Given the description of an element on the screen output the (x, y) to click on. 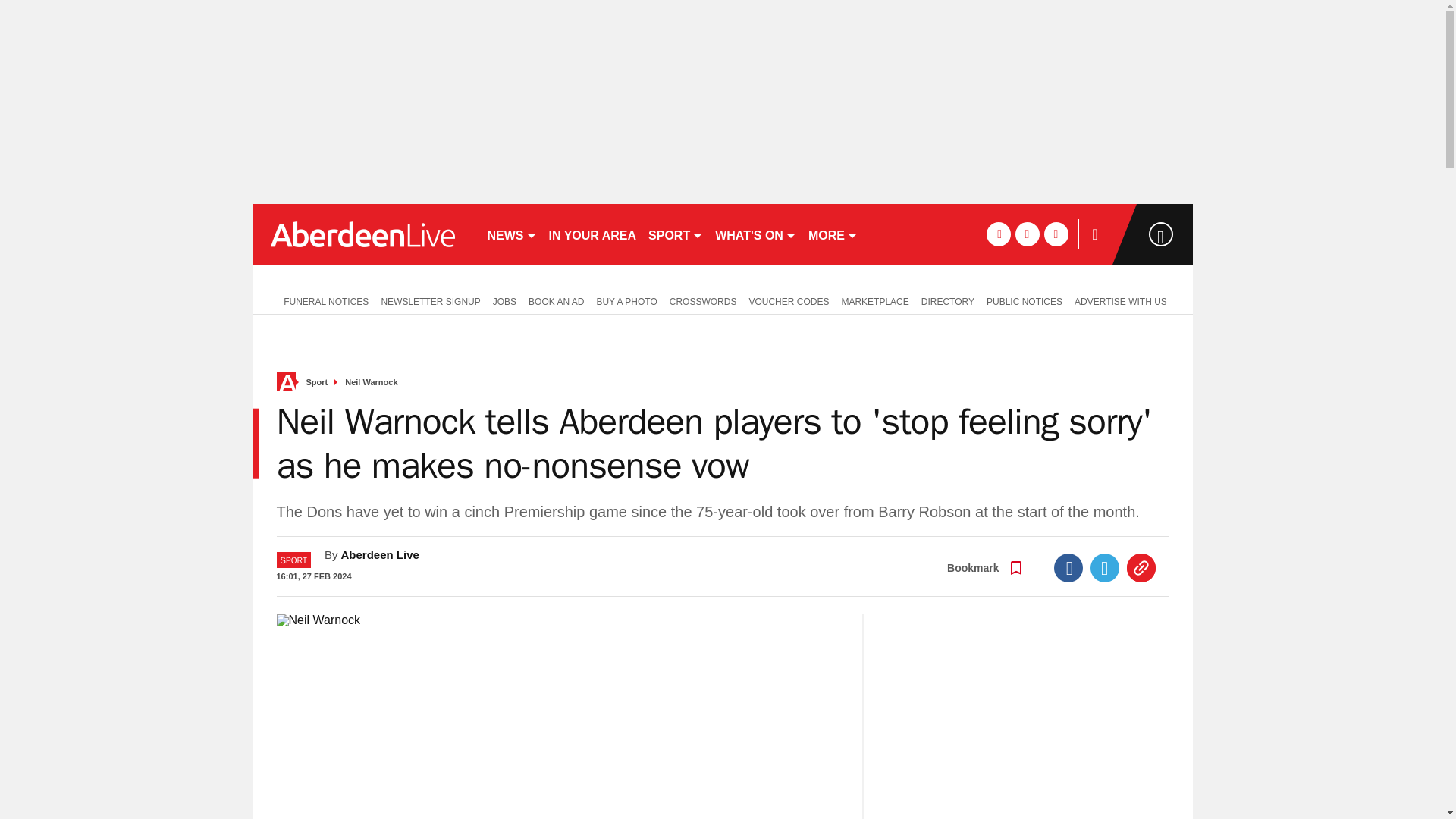
BUY A PHOTO (625, 300)
WHAT'S ON (755, 233)
BOOK AN AD (555, 300)
NEWS (510, 233)
SPORT (675, 233)
JOBS (504, 300)
instagram (1055, 233)
MORE (832, 233)
CROSSWORDS (702, 300)
aberdeenlive (362, 233)
